Given the description of an element on the screen output the (x, y) to click on. 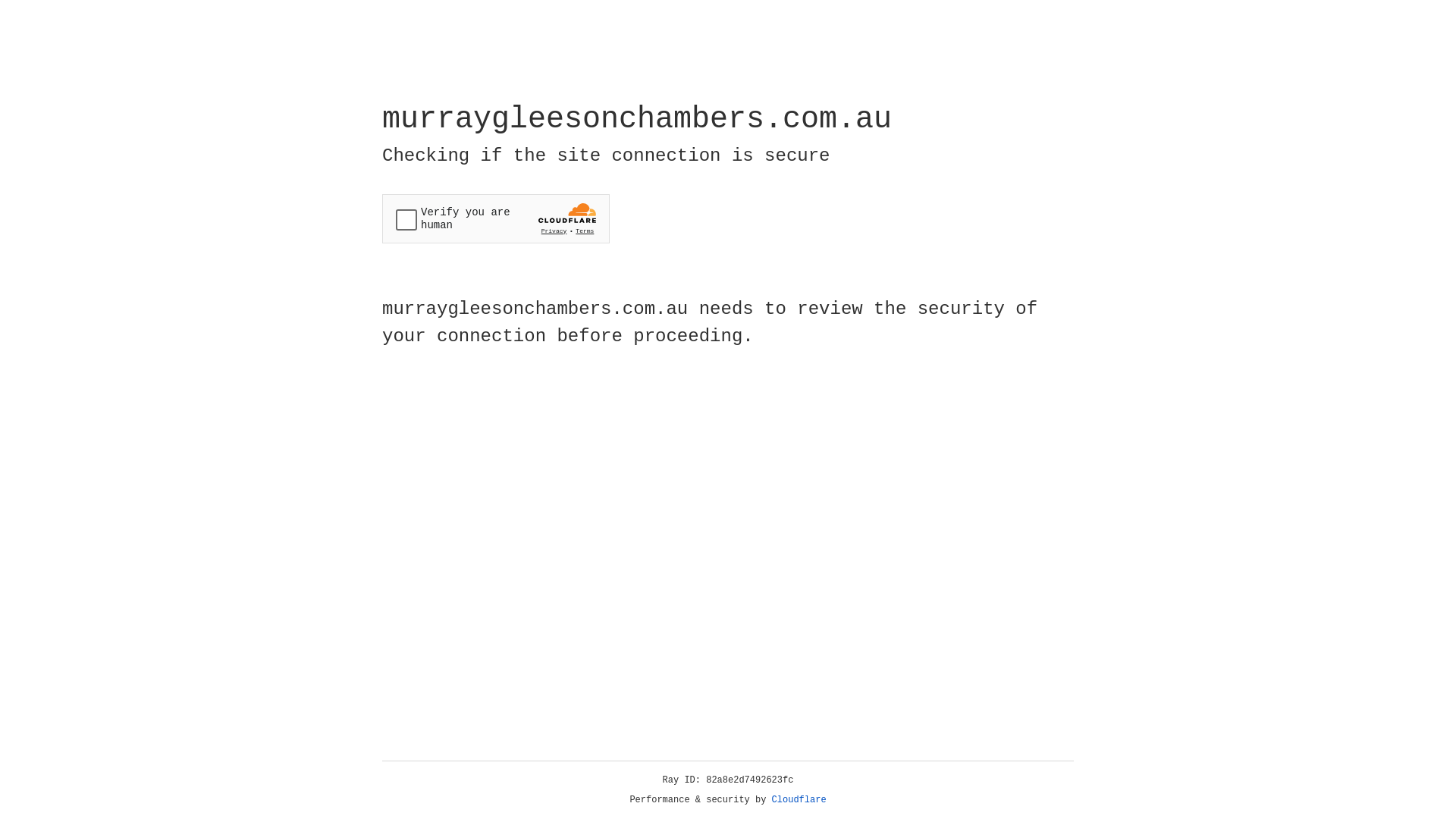
Cloudflare Element type: text (798, 799)
Widget containing a Cloudflare security challenge Element type: hover (495, 218)
